Given the description of an element on the screen output the (x, y) to click on. 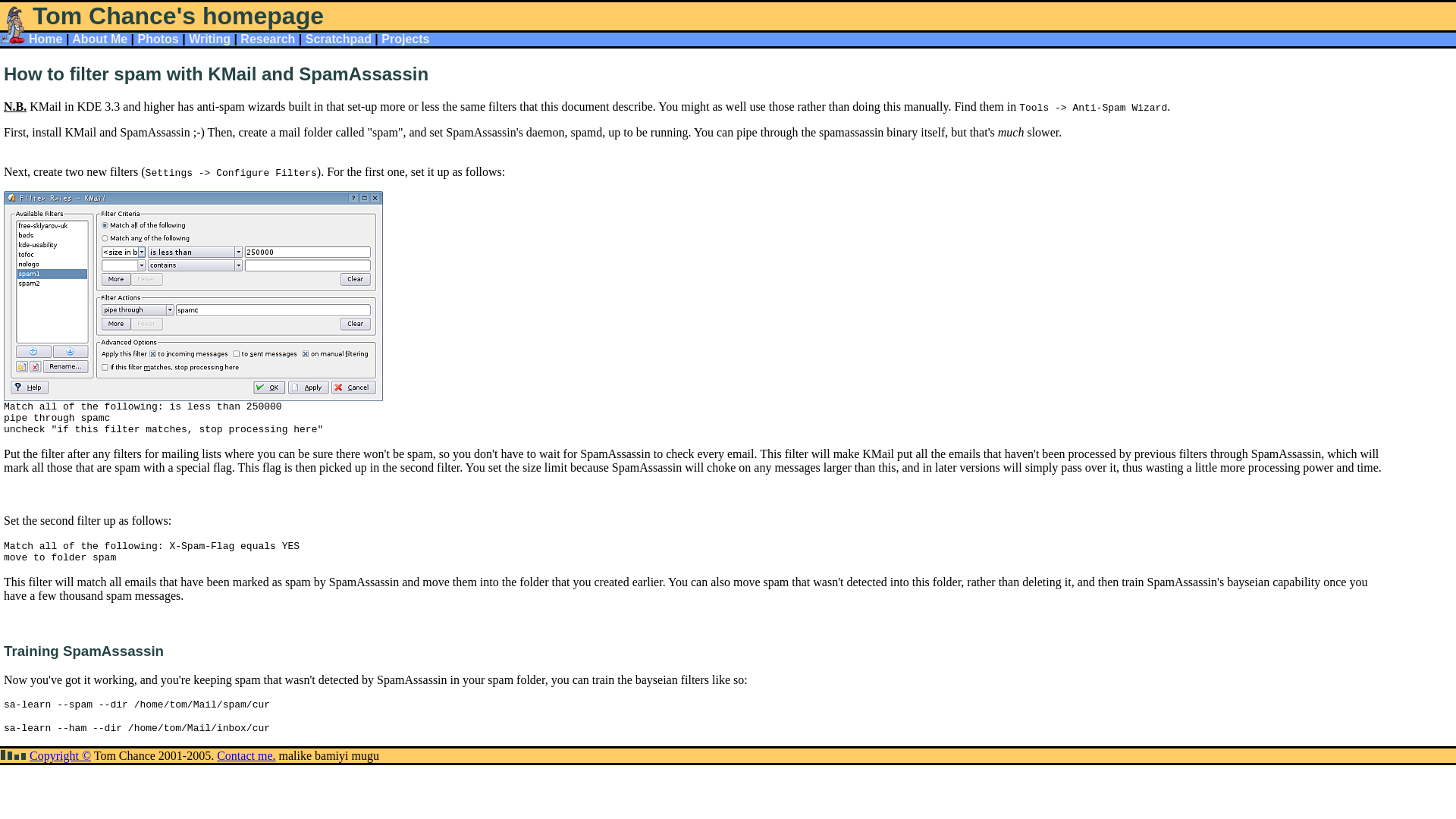
Scratchpad (338, 38)
Research (267, 38)
About Me (99, 38)
Home (45, 38)
Back to the start (45, 38)
Writing (209, 38)
Photos (158, 38)
Projects (405, 38)
The Gnostic Owl (267, 38)
Wonder who I am? (99, 38)
